Given the description of an element on the screen output the (x, y) to click on. 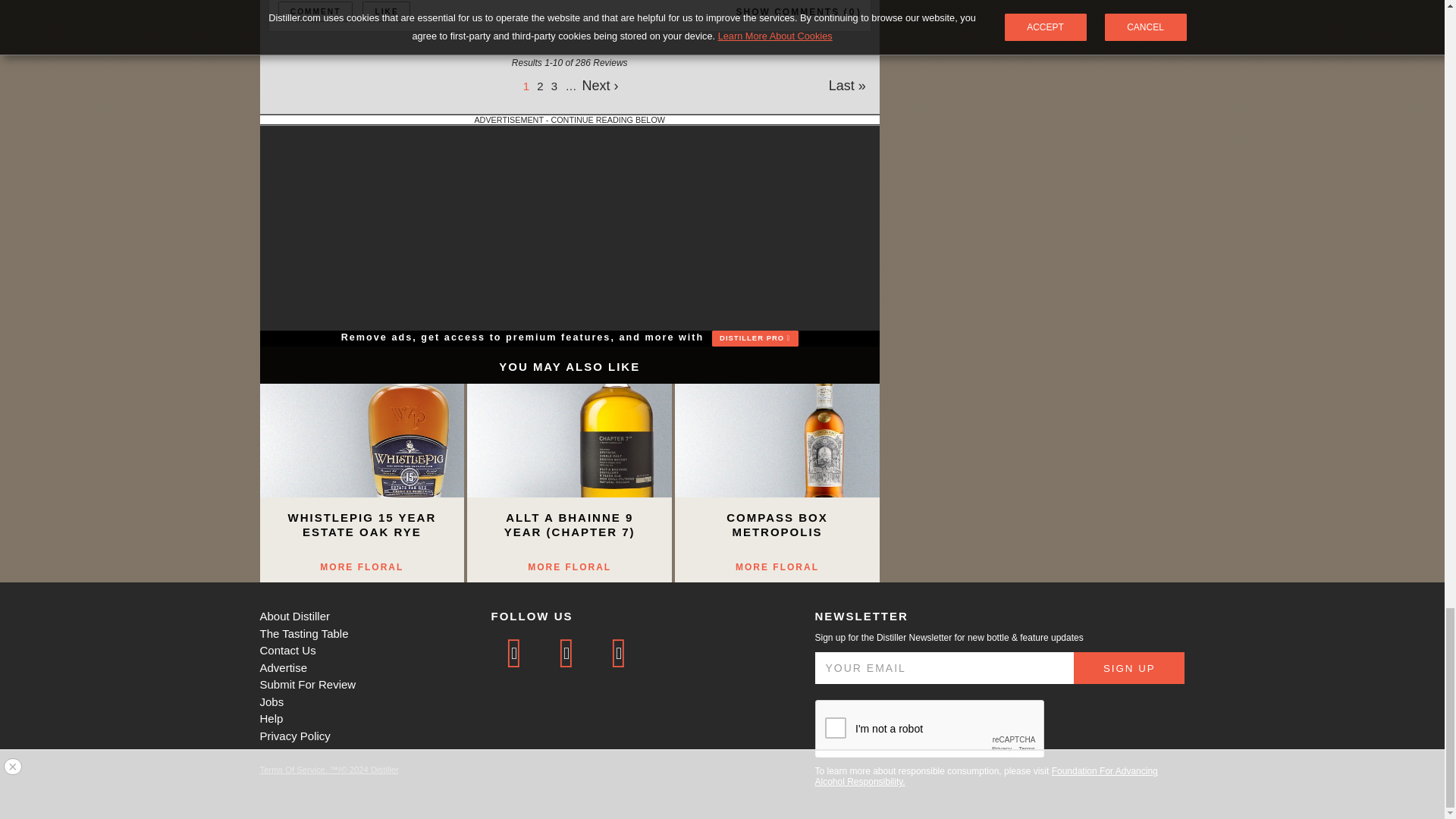
sign up (1129, 667)
reCAPTCHA (929, 729)
